Given the description of an element on the screen output the (x, y) to click on. 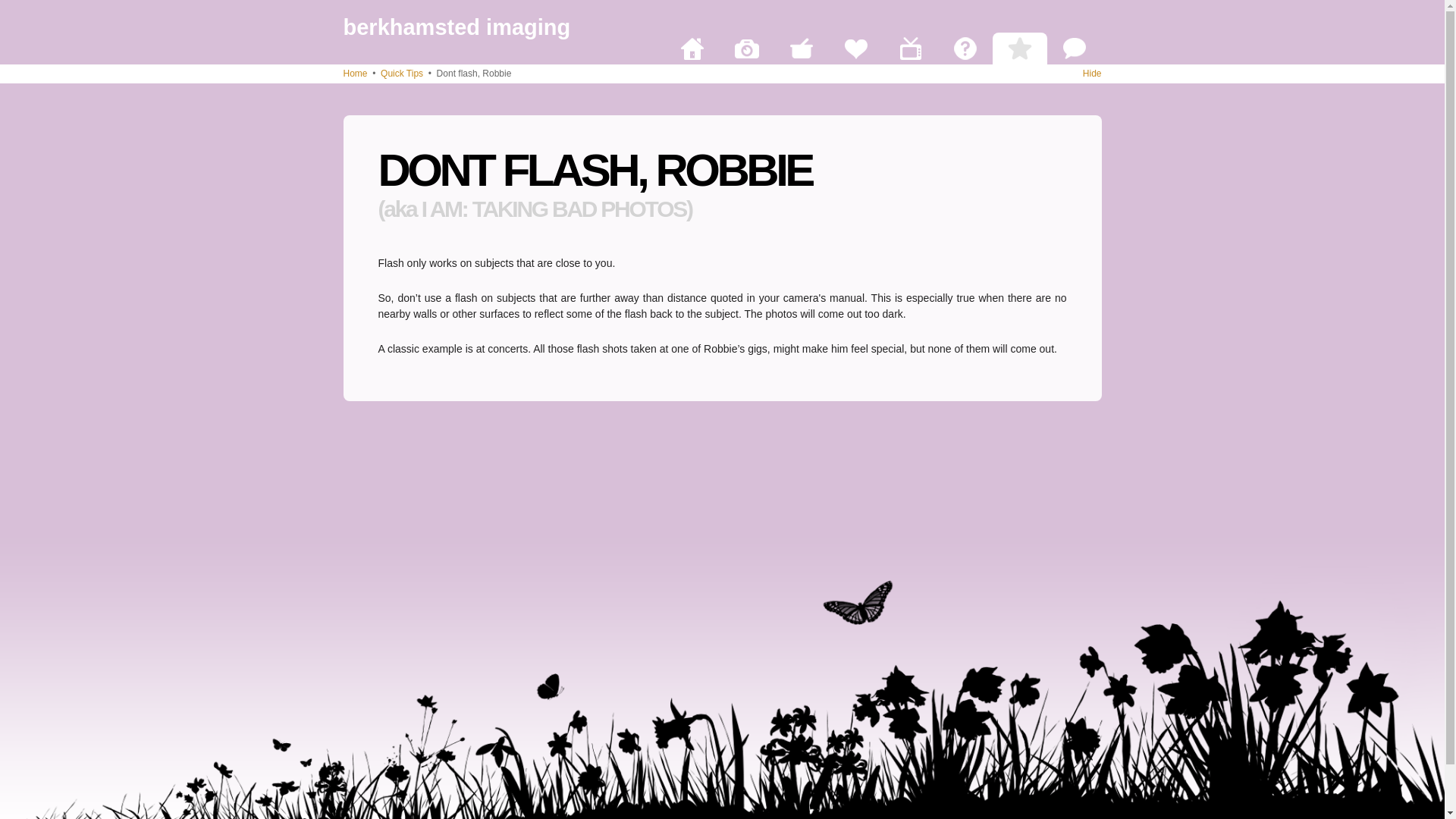
berkhamsted imaging (456, 27)
The "Get my photos printed" bit. (746, 49)
The "Funky Photo Stuff" bit. (800, 49)
Hide (1092, 72)
The "Tips, tricks and trade secrets" bit. (1018, 49)
The "Things We Can Do To Help" bit. (855, 49)
Hide the navigation tabs (1092, 72)
The "Soapbox and other mildly entertaining nonsense" bit. (1073, 49)
The "Answers to some not so frequently asked questions" bit. (964, 49)
Home (354, 72)
Quick Tips (401, 72)
The "Sort of vaguely arty" bit. (909, 49)
The "Home, sweet home" bit. (691, 49)
